Given the description of an element on the screen output the (x, y) to click on. 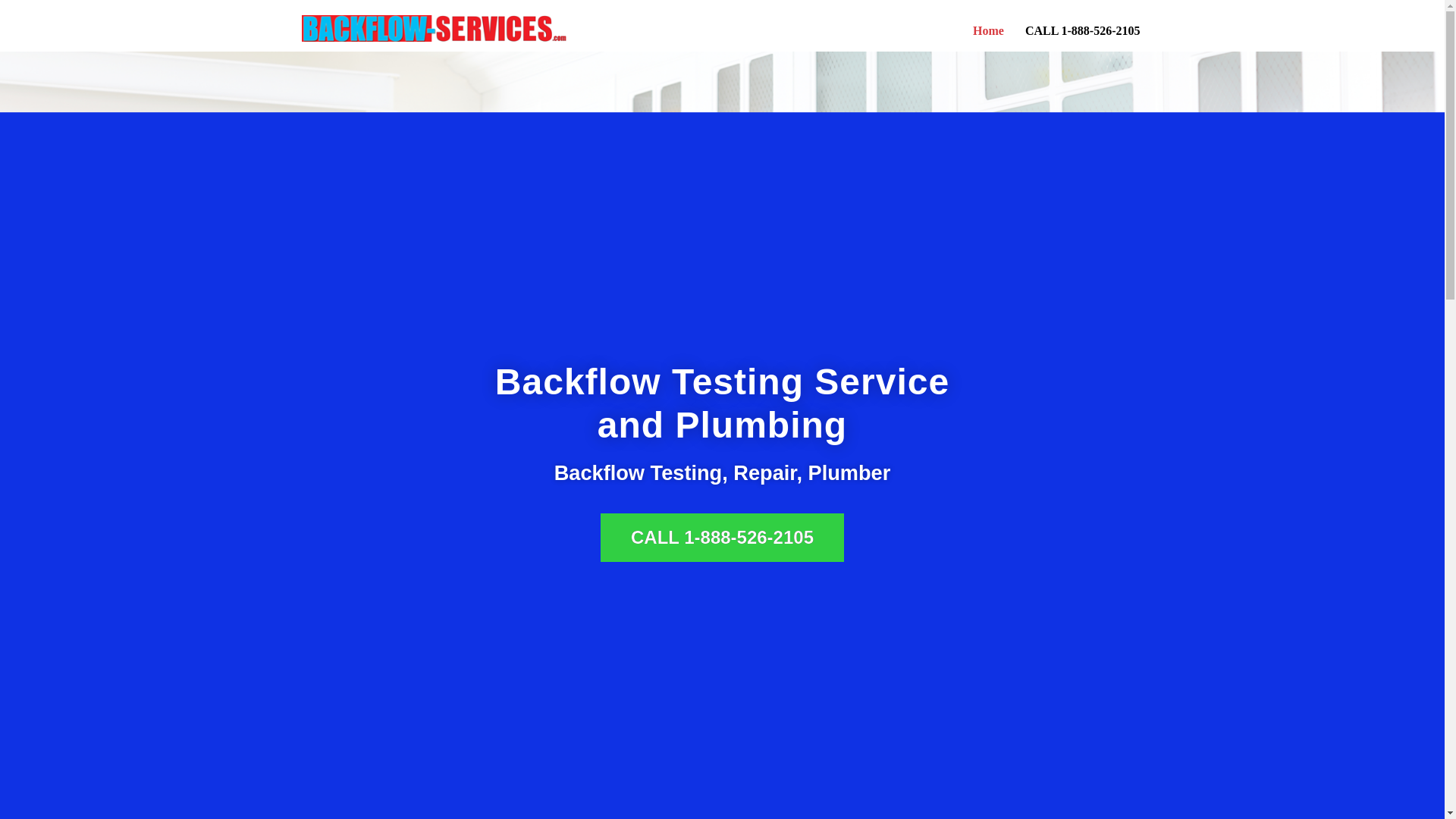
Skip to content (11, 31)
CALL 1-888-526-2105 (1082, 30)
Home (988, 30)
CALL 1-888-526-2105 (721, 537)
